Given the description of an element on the screen output the (x, y) to click on. 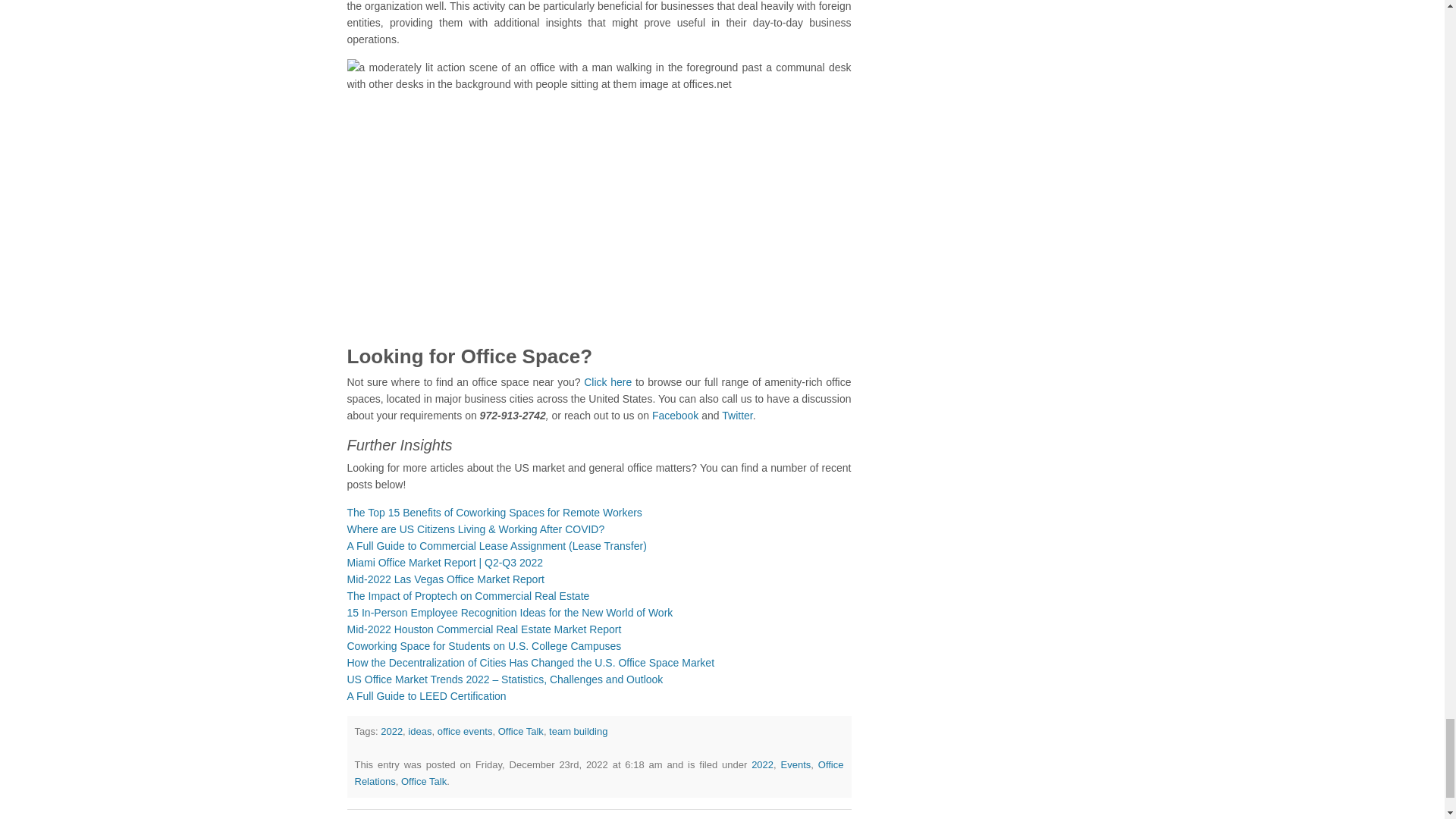
Click here (605, 381)
The Impact of Proptech on Commercial Real Estate (468, 595)
A Full Guide to LEED Certification (426, 695)
Mid-2022 Las Vegas Office Market Report (445, 579)
The Top 15 Benefits of Coworking Spaces for Remote Workers (494, 512)
Facebook (673, 415)
Coworking Space for Students on U.S. College Campuses (484, 645)
Twitter (735, 415)
